Given the description of an element on the screen output the (x, y) to click on. 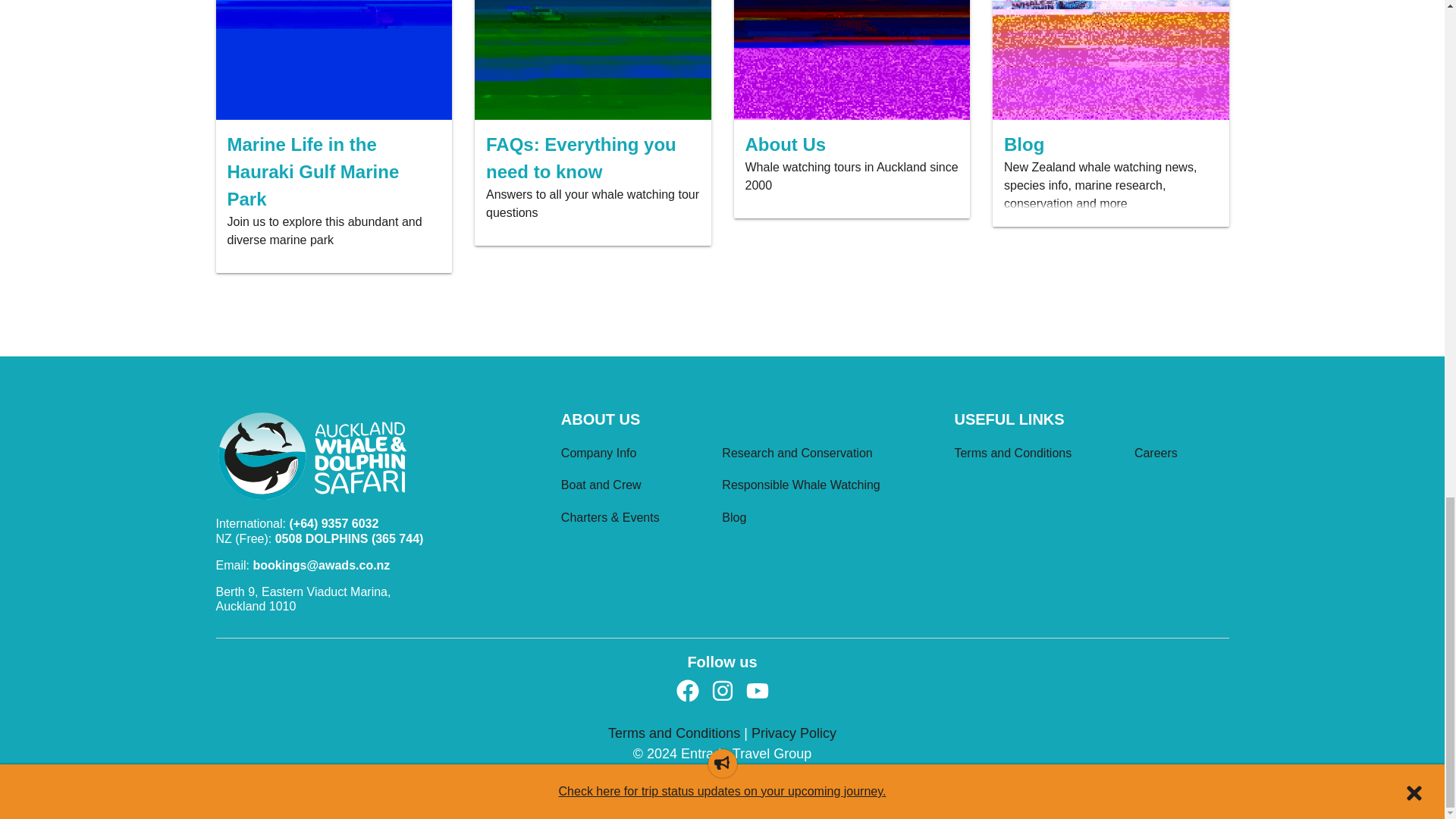
Privacy Policy (793, 733)
Marine Life in the Hauraki Gulf Marine Park (334, 171)
Research and Conservation (826, 454)
Company Info (635, 454)
Responsible Whale Watching (826, 486)
Terms and Conditions (676, 733)
Blog (826, 519)
Terms and Conditions (1037, 454)
Blog (1110, 144)
Boat and Crew (635, 486)
